Given the description of an element on the screen output the (x, y) to click on. 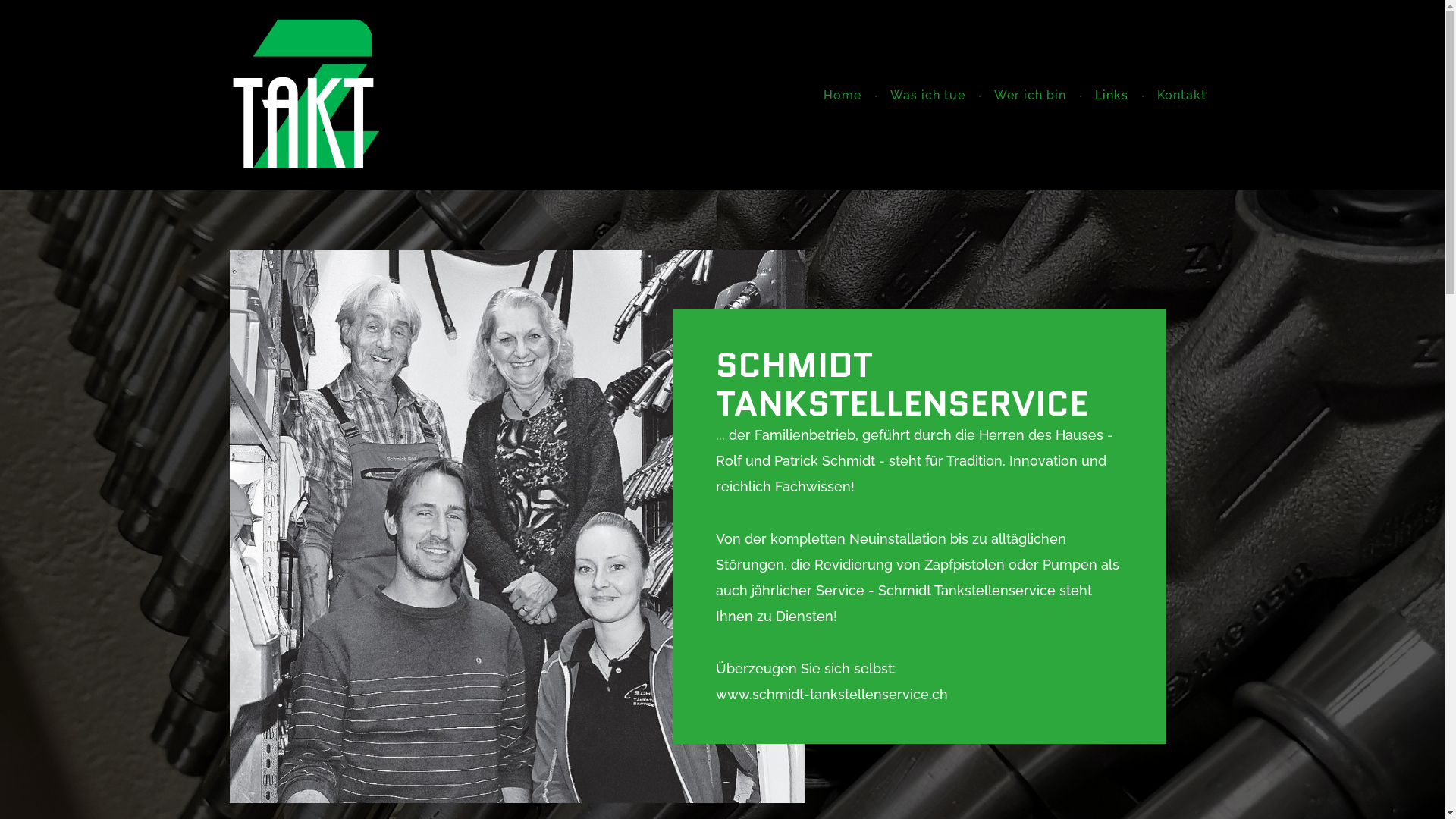
Wer ich bin Element type: text (1029, 95)
Links Element type: text (1111, 95)
Was ich tue Element type: text (927, 95)
Kontakt Element type: text (1181, 95)
Home Element type: text (842, 95)
www.schmidt-tankstellenservice.ch Element type: text (831, 694)
